Given the description of an element on the screen output the (x, y) to click on. 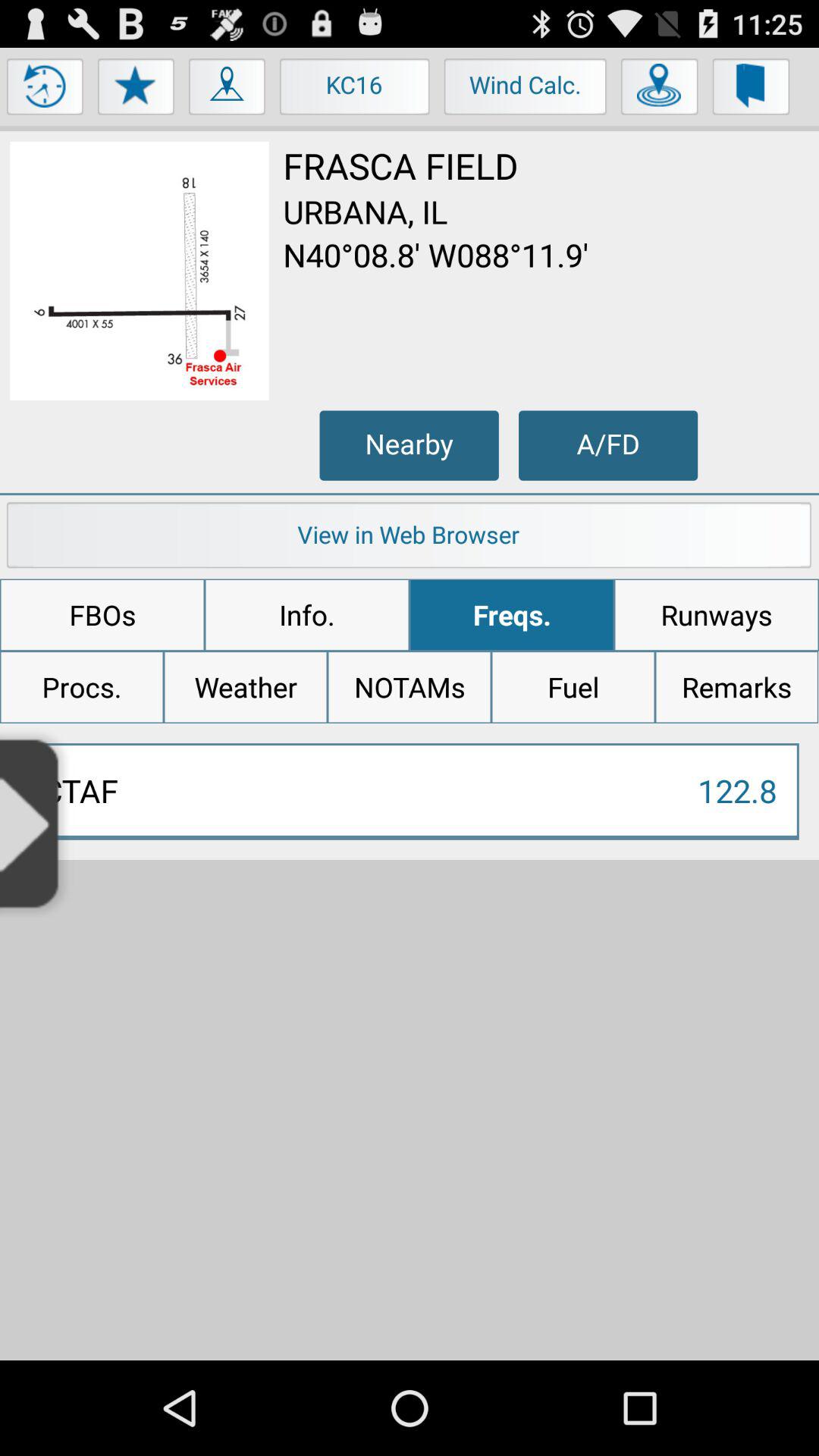
jump until weather (245, 687)
